Given the description of an element on the screen output the (x, y) to click on. 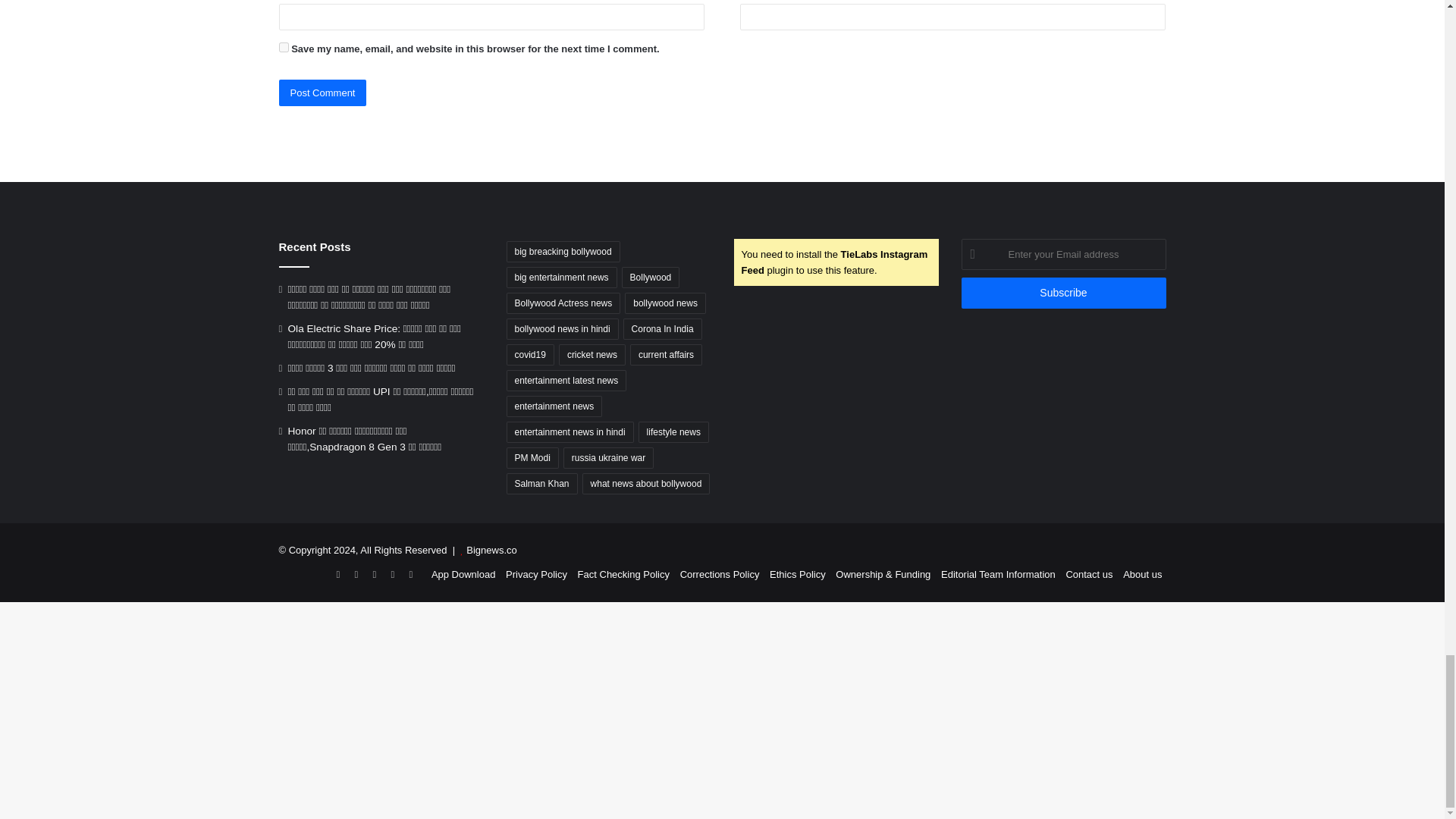
Post Comment (322, 92)
Subscribe (1063, 292)
yes (283, 47)
